Given the description of an element on the screen output the (x, y) to click on. 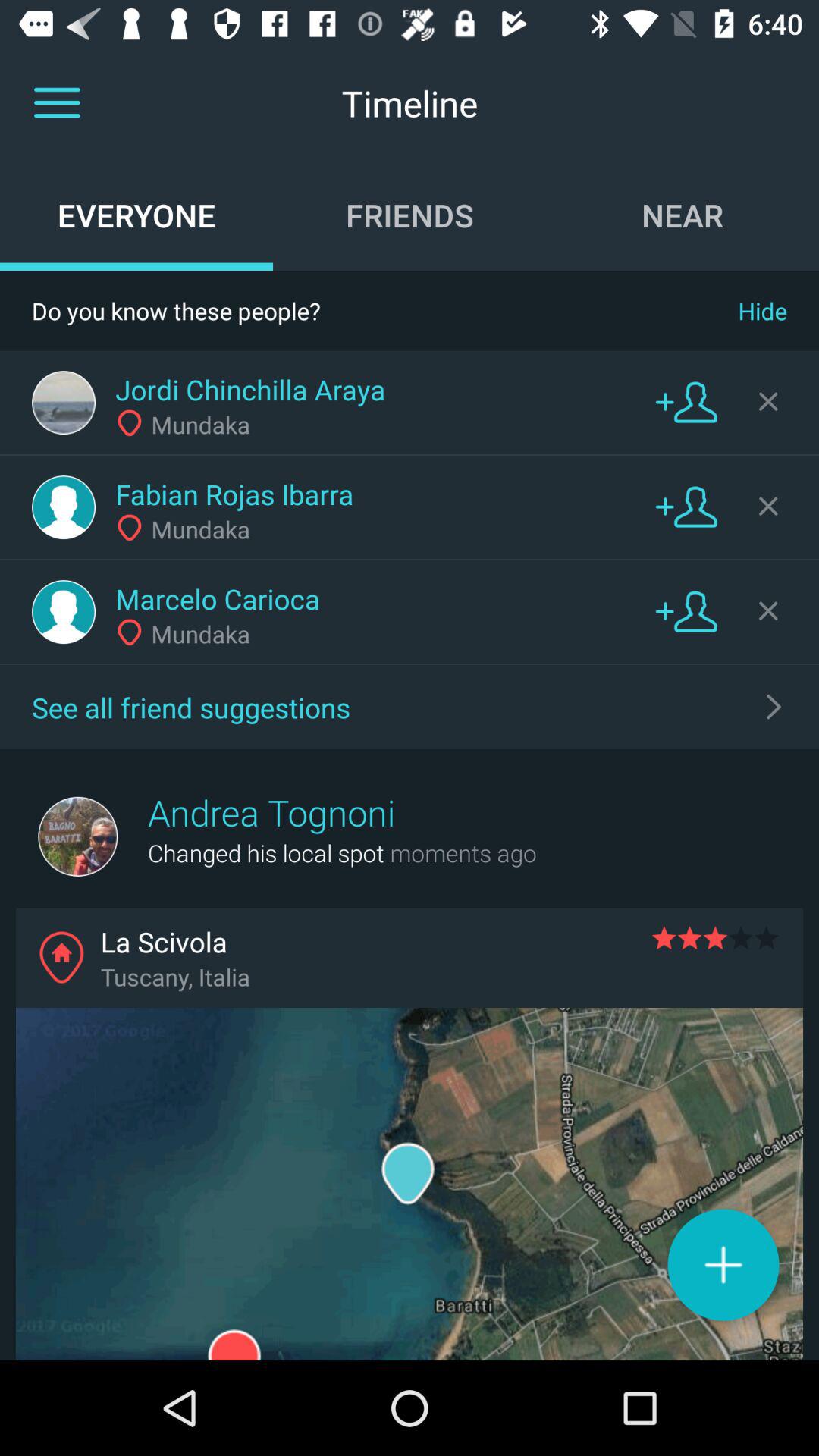
hide button (768, 401)
